Given the description of an element on the screen output the (x, y) to click on. 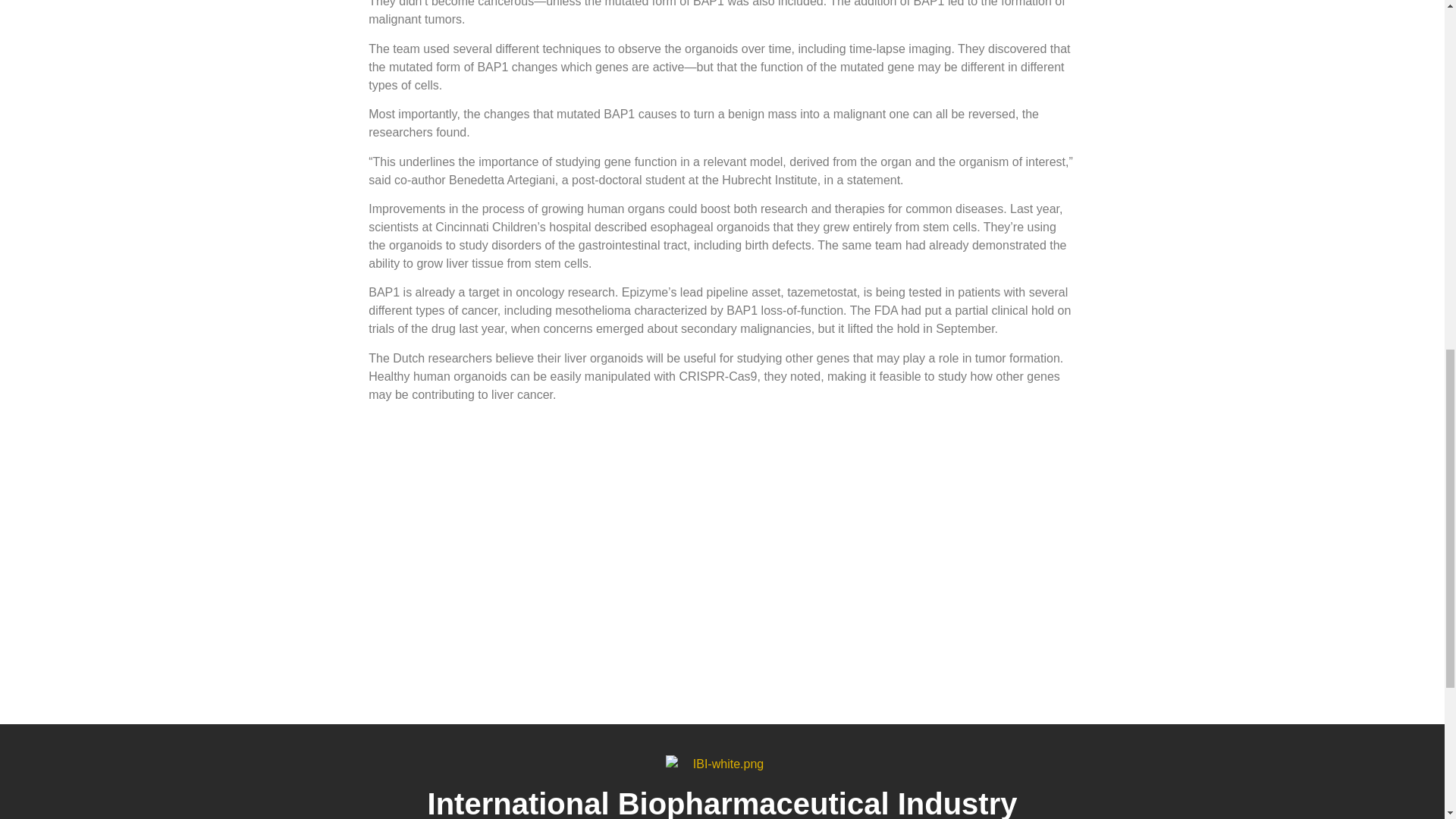
IBI-white.png (721, 764)
